Given the description of an element on the screen output the (x, y) to click on. 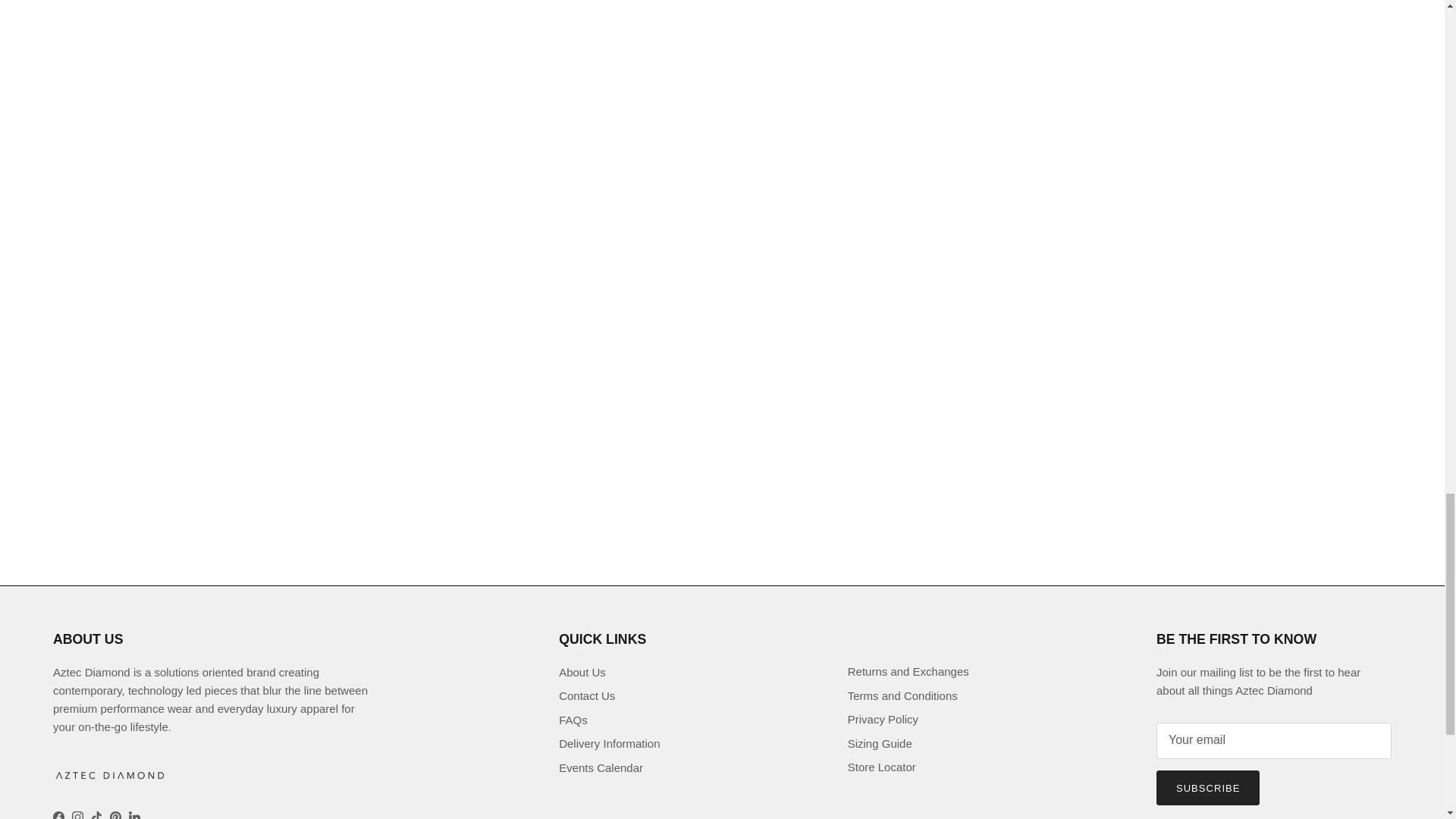
Aztec Diamond on TikTok (95, 815)
Aztec Diamond on Facebook (58, 815)
Aztec Diamond on Instagram (76, 815)
Aztec Diamond on Pinterest (115, 815)
Aztec Diamond on LinkedIn (134, 815)
